Given the description of an element on the screen output the (x, y) to click on. 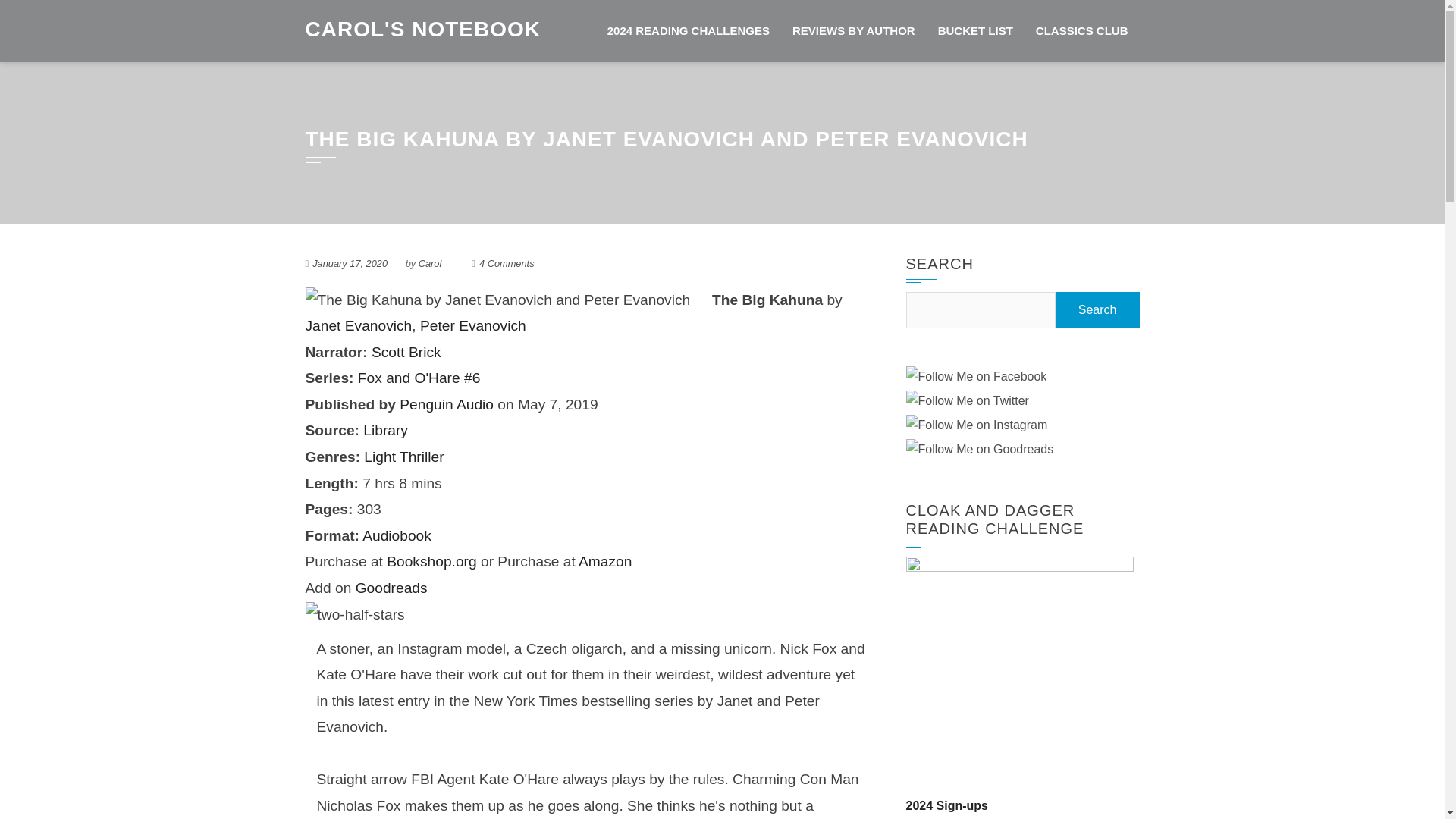
Peter Evanovich (472, 325)
Bookshop.org (431, 561)
Carol (430, 263)
Goodreads (391, 587)
Follow Me on Twitter (966, 401)
Follow Me on Goodreads (978, 449)
Penguin Audio (445, 404)
REVIEWS BY AUTHOR (853, 31)
Search (1097, 310)
The Big Kahuna by Janet Evanovich and Peter Evanovich (497, 300)
